Given the description of an element on the screen output the (x, y) to click on. 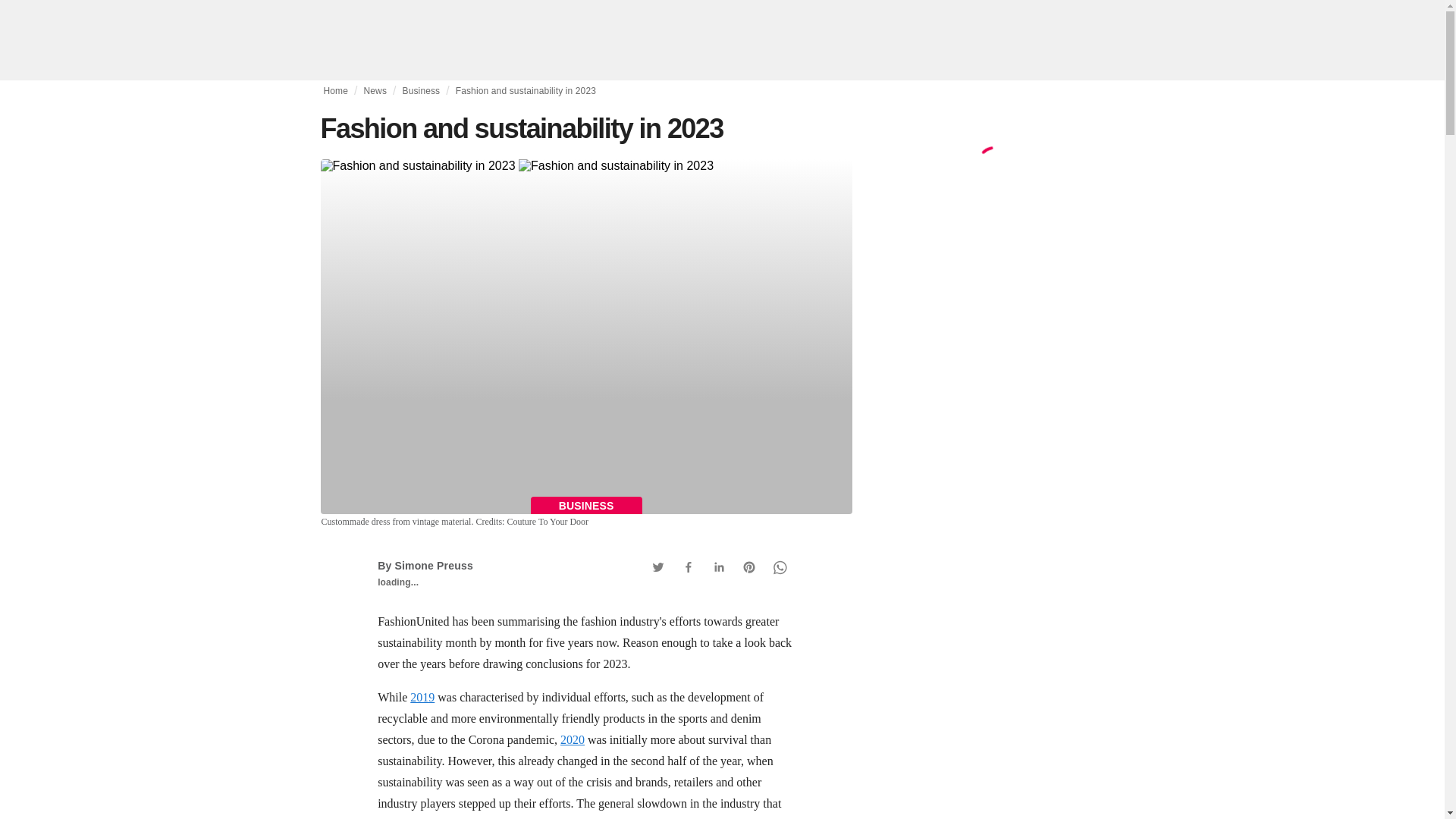
2019 (421, 697)
Business (420, 90)
2020 (572, 739)
Home (335, 90)
Fashion and sustainability in 2023 (585, 165)
By Simone Preuss (425, 565)
News (375, 90)
Fashion and sustainability in 2023 (525, 90)
